Given the description of an element on the screen output the (x, y) to click on. 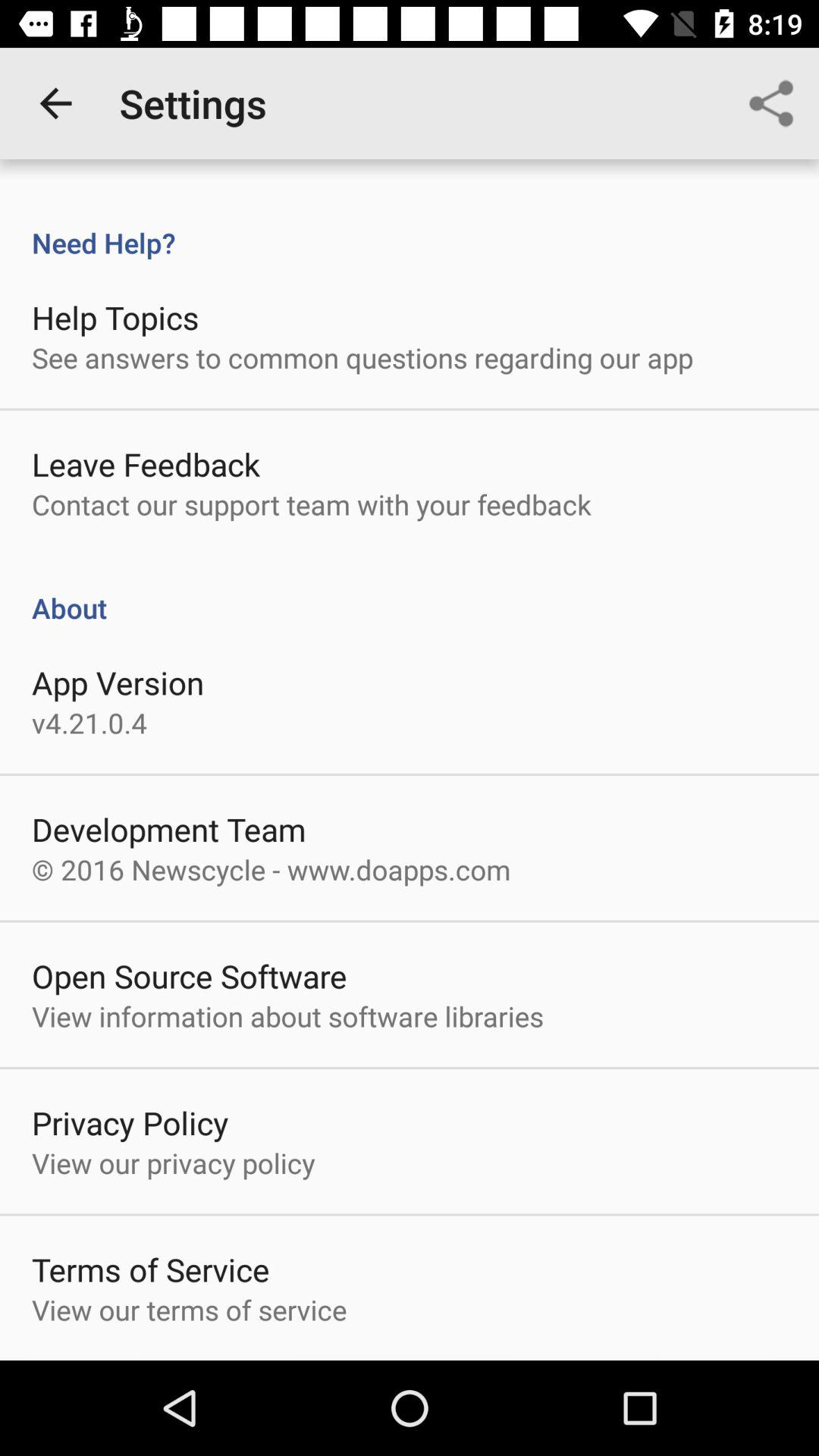
open the item above the need help? item (771, 103)
